Given the description of an element on the screen output the (x, y) to click on. 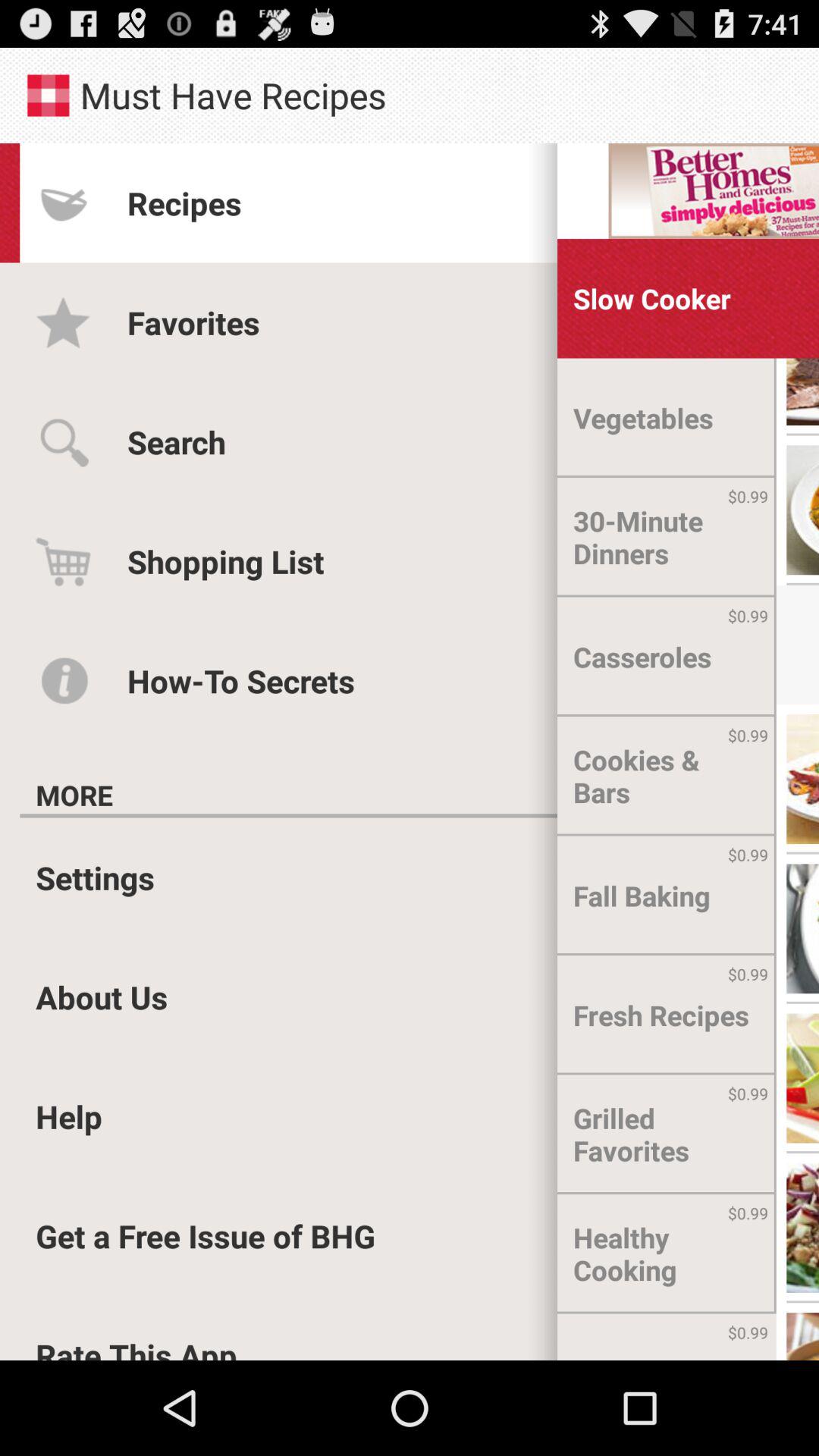
click the cookies & bars app (666, 776)
